Given the description of an element on the screen output the (x, y) to click on. 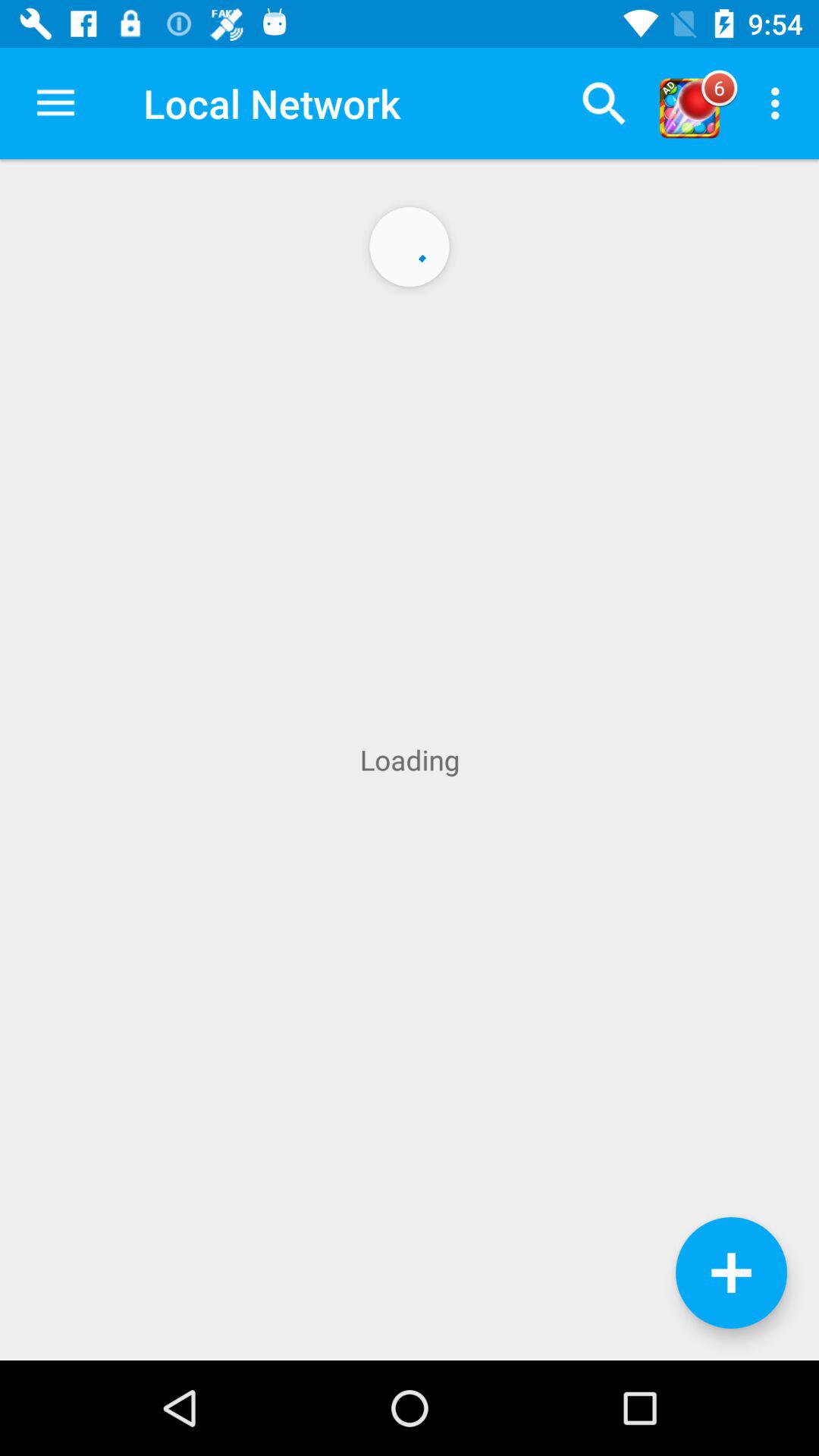
turn off the item next to the local network item (55, 103)
